Given the description of an element on the screen output the (x, y) to click on. 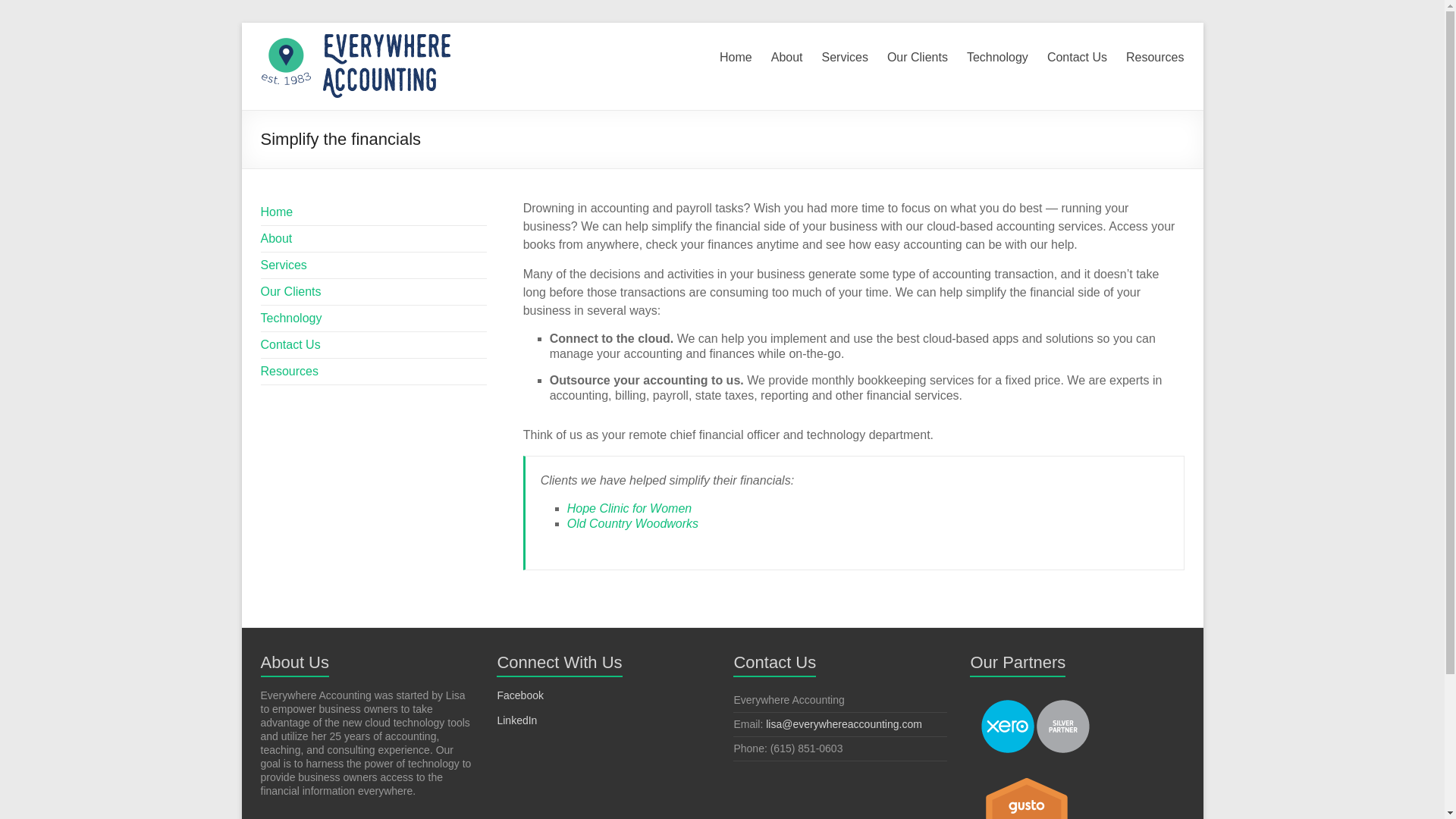
About (787, 54)
Everywhere Accounting (354, 41)
Contact Us (290, 344)
Services (844, 54)
Contact Us (1076, 54)
Technology (996, 54)
Hope Clinic for Women (630, 508)
Technology (290, 318)
Our Clients (290, 291)
Services (283, 264)
